Given the description of an element on the screen output the (x, y) to click on. 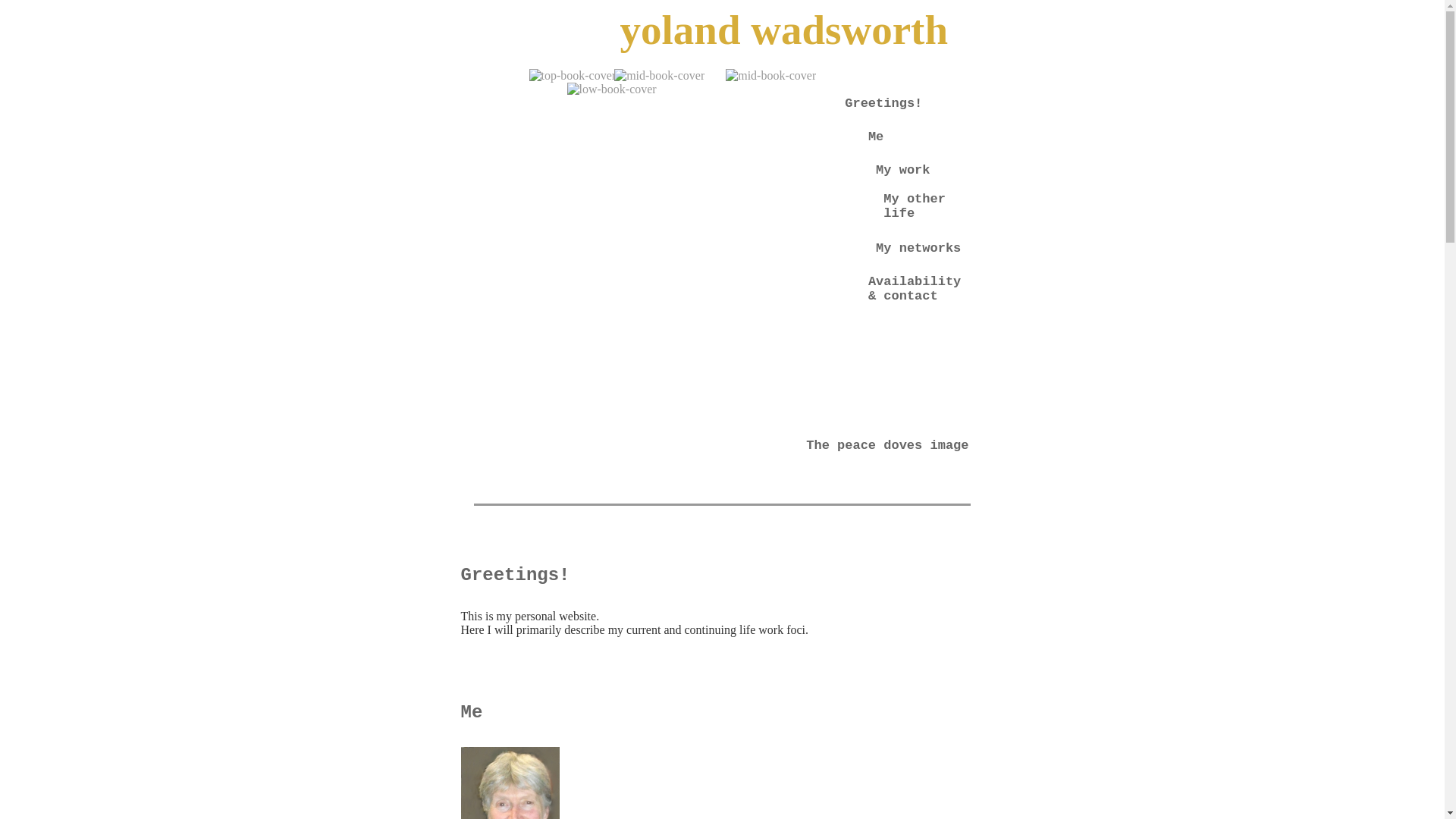
My work      Element type: text (921, 170)
My other   
life        Element type: text (925, 213)
Me            Element type: text (918, 136)
Greetings!       Element type: text (906, 110)
My networks  Element type: text (921, 248)
Availability  & contact     Element type: text (918, 288)
The peace doves image Element type: text (887, 445)
